Given the description of an element on the screen output the (x, y) to click on. 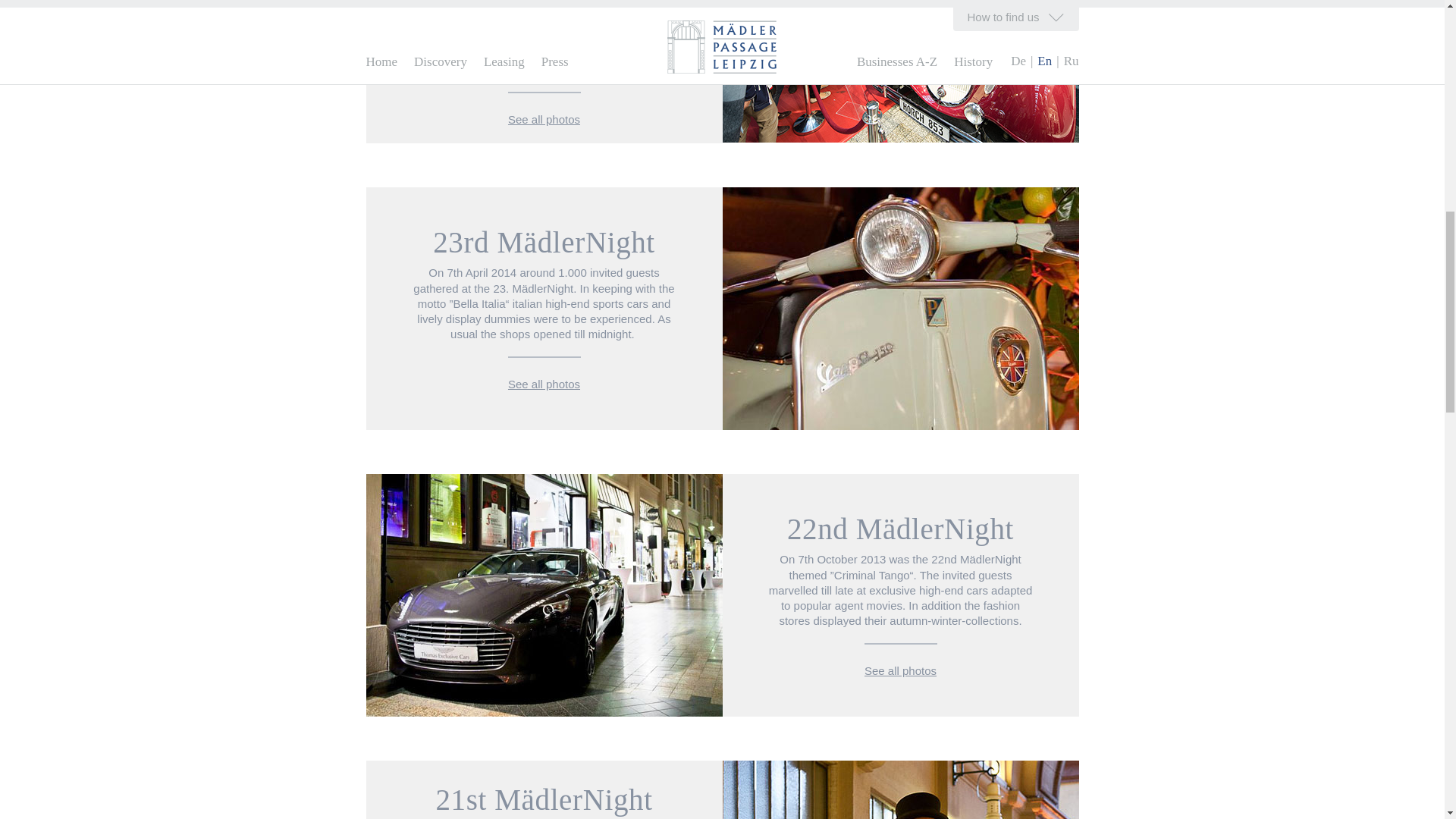
See all photos (543, 119)
See all photos (543, 383)
See all photos (900, 670)
